Given the description of an element on the screen output the (x, y) to click on. 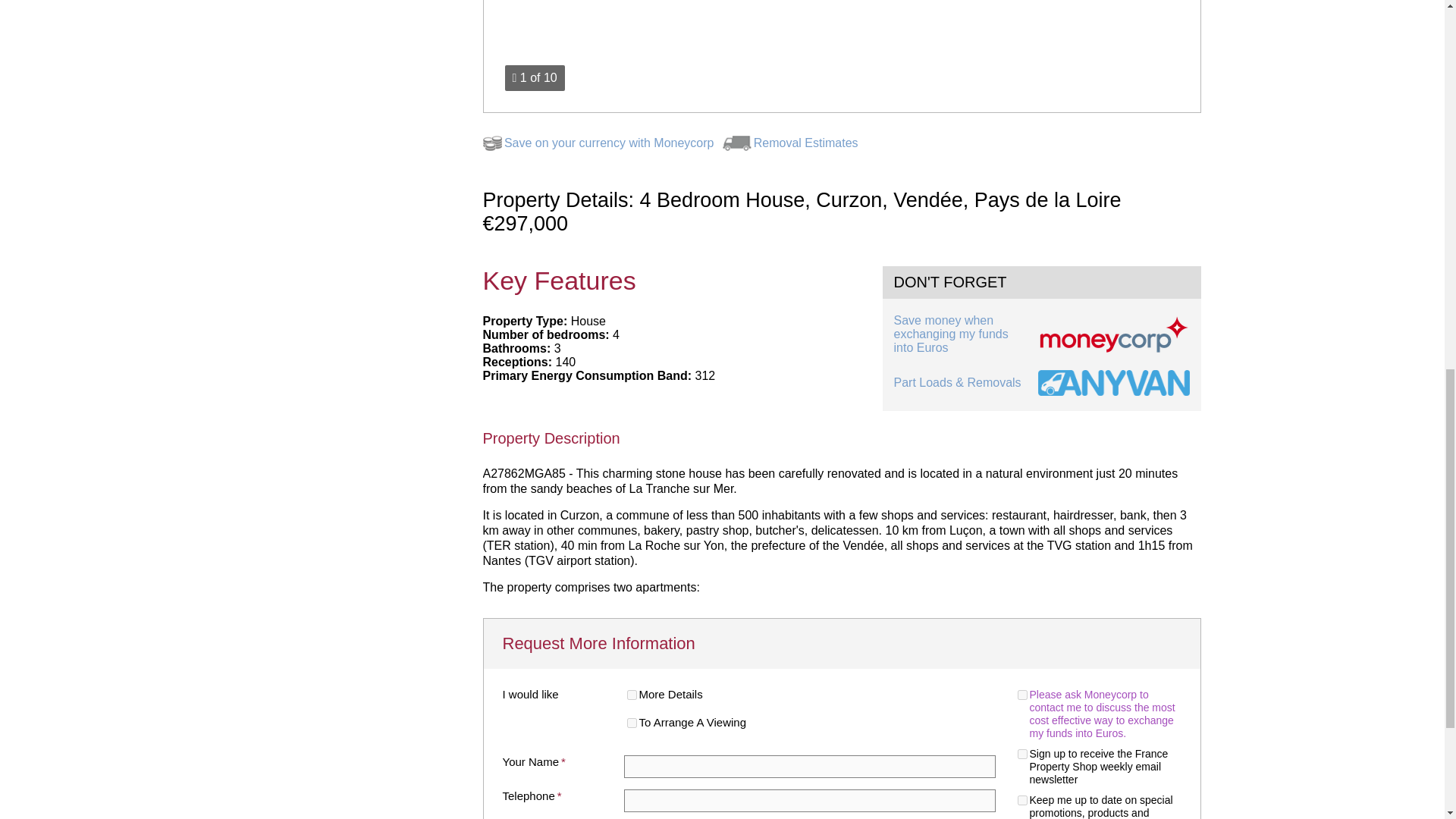
y (631, 695)
y (631, 723)
y (1022, 800)
y (1022, 695)
y (1022, 754)
Removal Estimates (806, 142)
Save on your currency with Moneycorp (608, 142)
Save money when exchanging my funds into Euros (1041, 334)
